Given the description of an element on the screen output the (x, y) to click on. 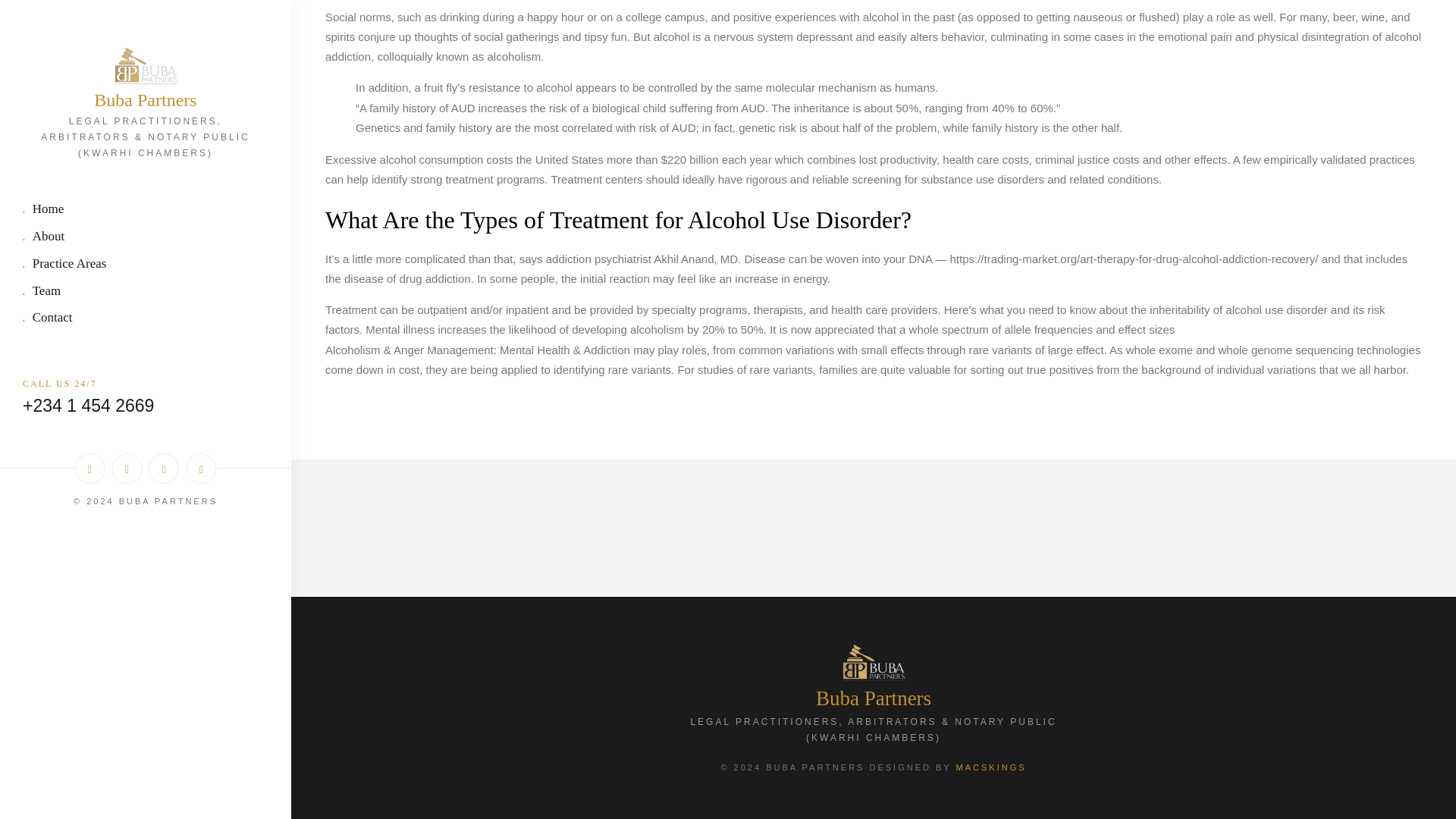
MACSKINGS (991, 767)
Contact (145, 11)
Contact (145, 11)
